Given the description of an element on the screen output the (x, y) to click on. 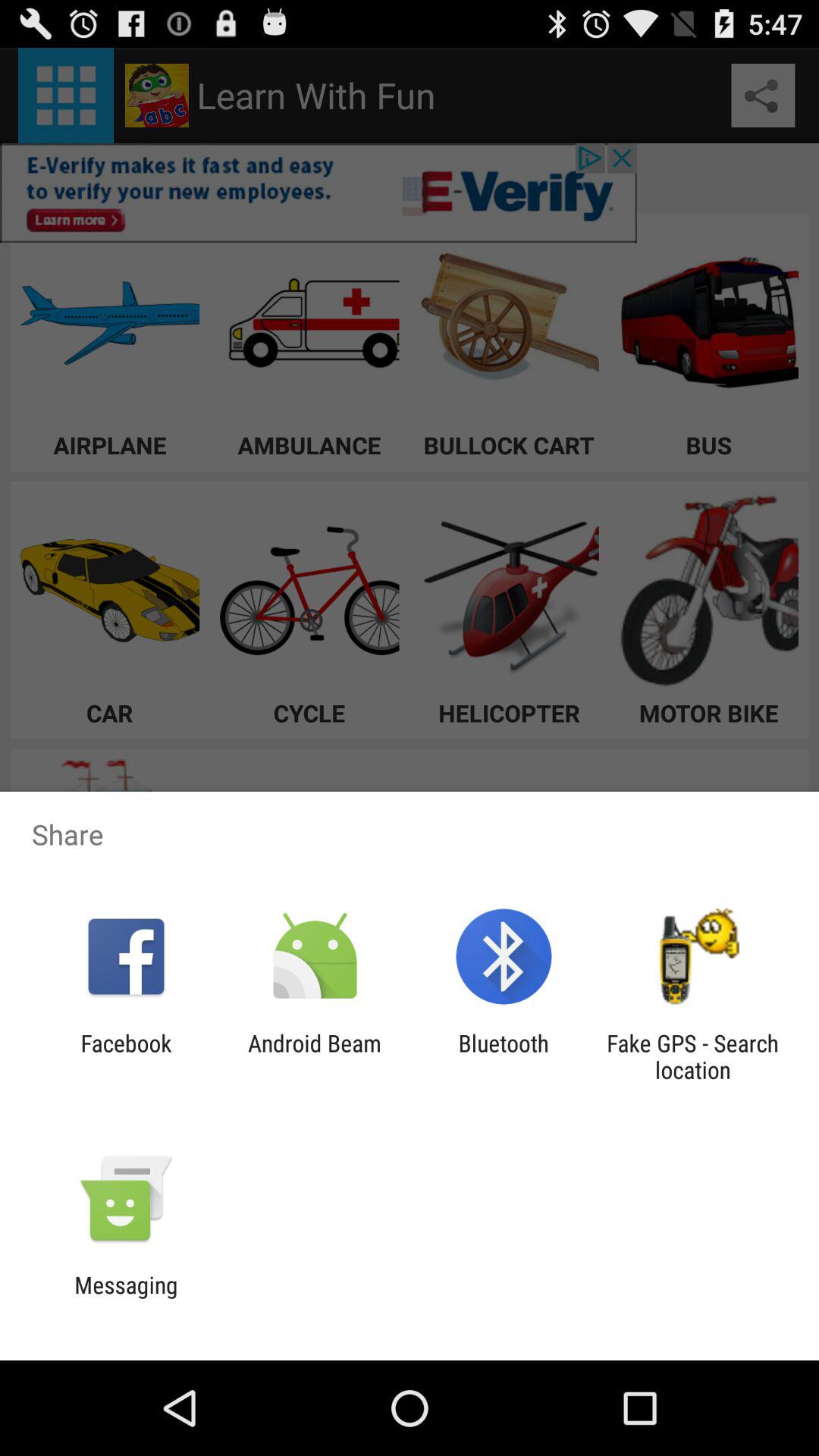
launch item next to facebook (314, 1056)
